Given the description of an element on the screen output the (x, y) to click on. 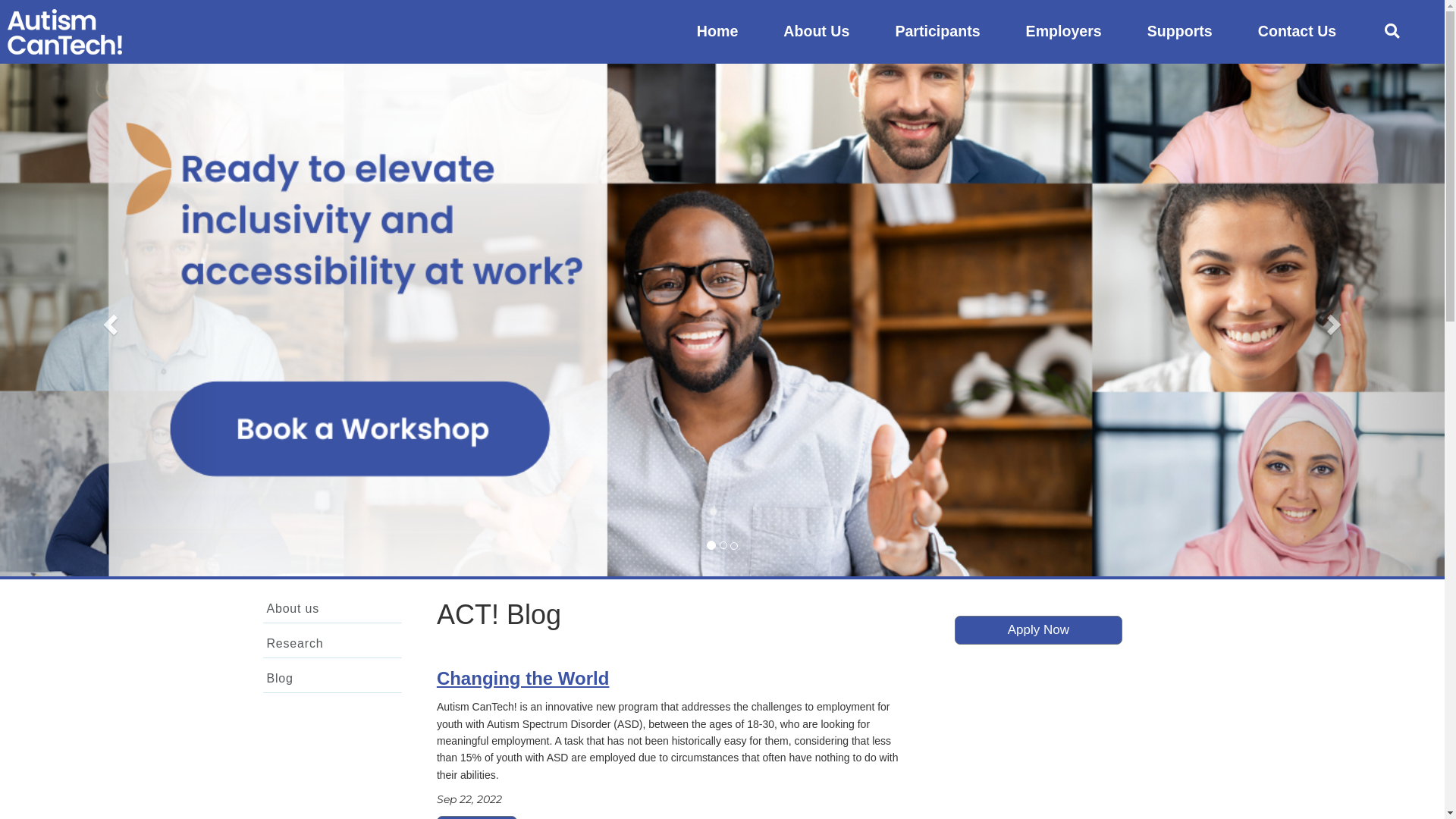
Contact Us Element type: text (1296, 31)
Apply Now Element type: text (1038, 629)
Employers Element type: text (1063, 31)
Blog Element type: text (331, 679)
About us Element type: text (331, 609)
  Element type: text (1393, 31)
Changing the World Element type: text (522, 678)
Participants Element type: text (937, 31)
Research Element type: text (331, 644)
Previous Element type: text (108, 319)
Autism Can-Tech Element type: hover (64, 31)
About Us Element type: text (816, 31)
Supports Element type: text (1179, 31)
Home Element type: text (717, 31)
Next Element type: text (1335, 319)
